Given the description of an element on the screen output the (x, y) to click on. 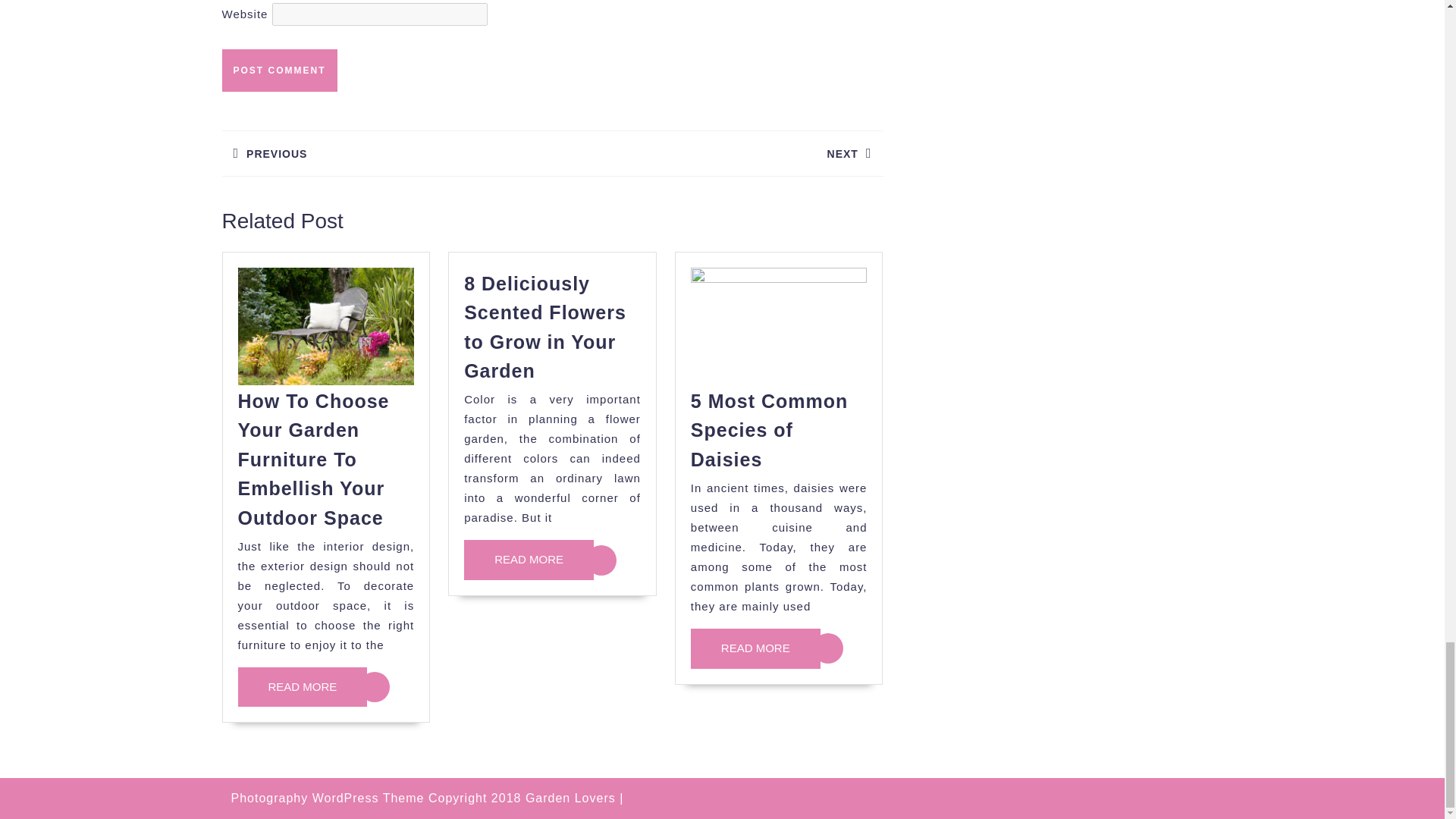
Post Comment (278, 70)
Post Comment (386, 153)
